Given the description of an element on the screen output the (x, y) to click on. 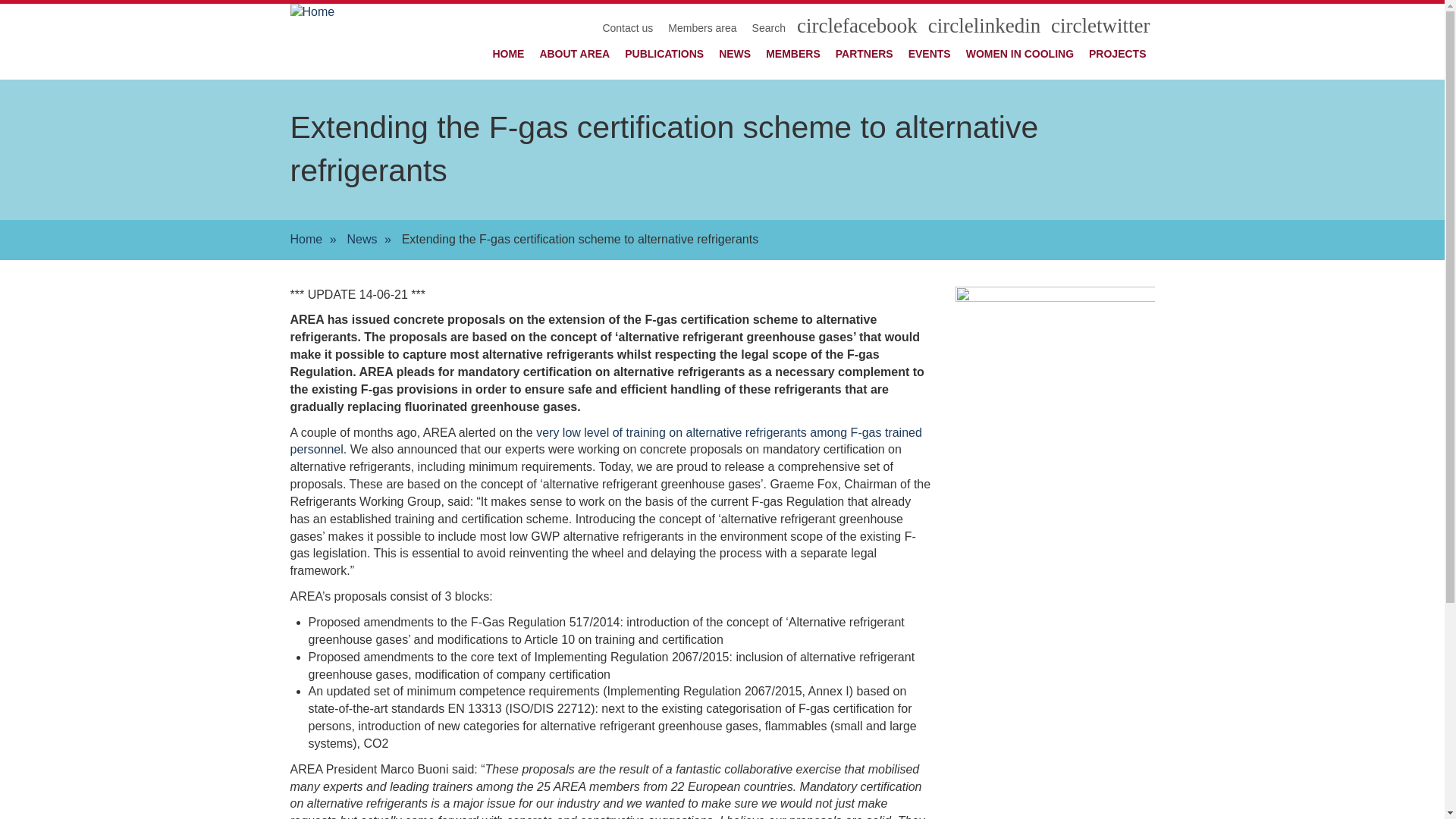
ABOUT AREA Element type: text (574, 53)
Home Element type: hover (351, 41)
WOMEN IN COOLING Element type: text (1019, 53)
News Element type: text (361, 238)
MEMBERS Element type: text (793, 53)
PUBLICATIONS Element type: text (664, 53)
Skip to main content Element type: text (0, 0)
Contact us Element type: text (627, 27)
PROJECTS Element type: text (1117, 53)
HOME Element type: text (507, 53)
Home Element type: text (305, 238)
PARTNERS Element type: text (864, 53)
circlefacebook Element type: text (858, 28)
EVENTS Element type: text (929, 53)
circlelinkedin Element type: text (985, 28)
Members area Element type: text (701, 27)
circletwitter Element type: text (1100, 28)
NEWS Element type: text (734, 53)
Search Element type: text (768, 27)
